Given the description of an element on the screen output the (x, y) to click on. 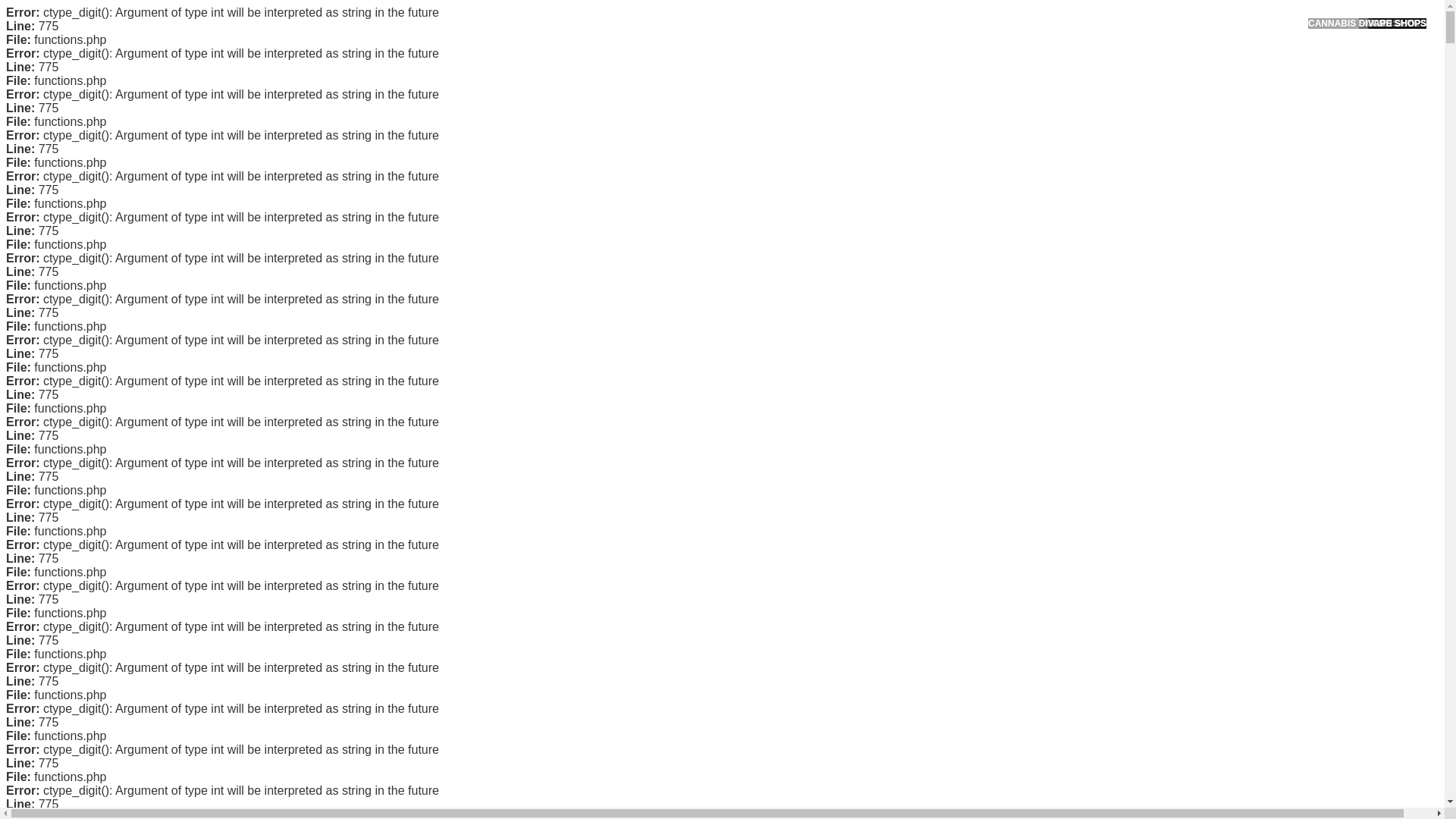
Search (1050, 85)
ADMINISTRATOR (417, 118)
Read More (581, 201)
Blog (976, 510)
CONVERSATIONSWITHCARLOS.COM (474, 28)
Terms of Use (996, 330)
hop over to here (394, 786)
Skip to content (34, 9)
RSS (977, 612)
Disclaimer (990, 354)
Search (1050, 85)
DMCA Policy (996, 282)
Contact Us (991, 258)
Log in (980, 588)
Search (1050, 85)
